Given the description of an element on the screen output the (x, y) to click on. 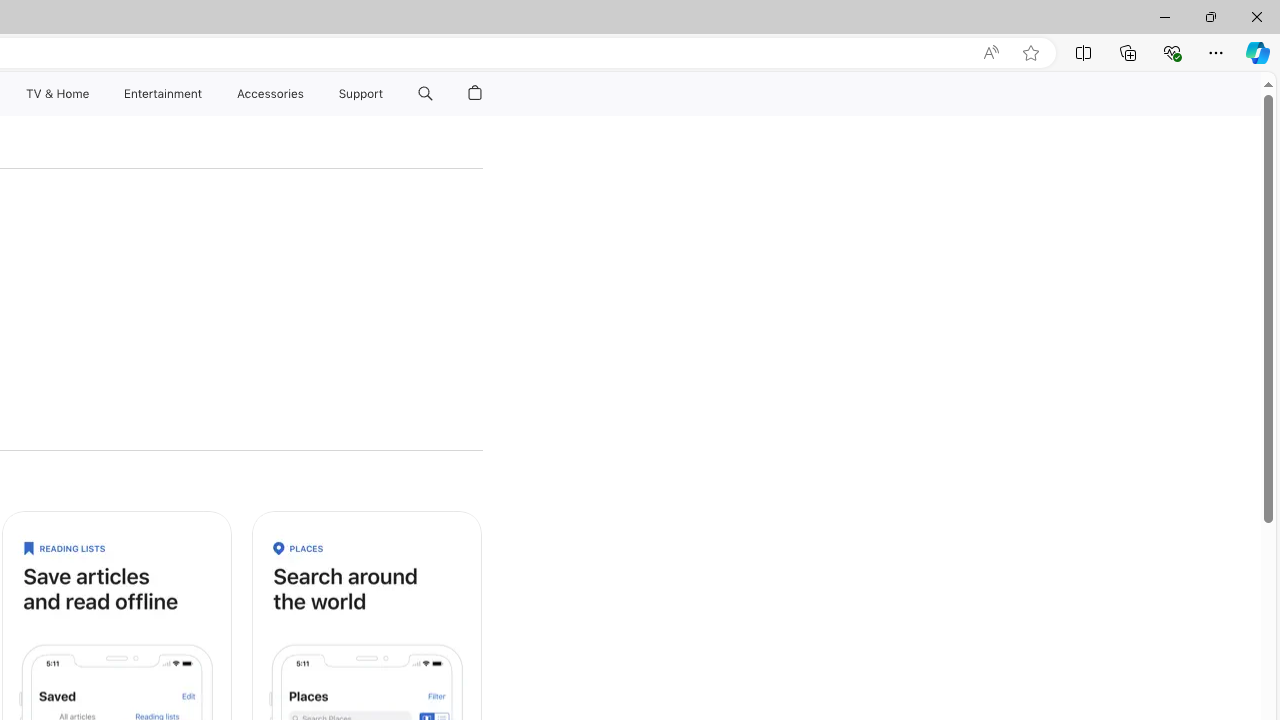
Class: globalnav-item globalnav-search (425, 93)
